Given the description of an element on the screen output the (x, y) to click on. 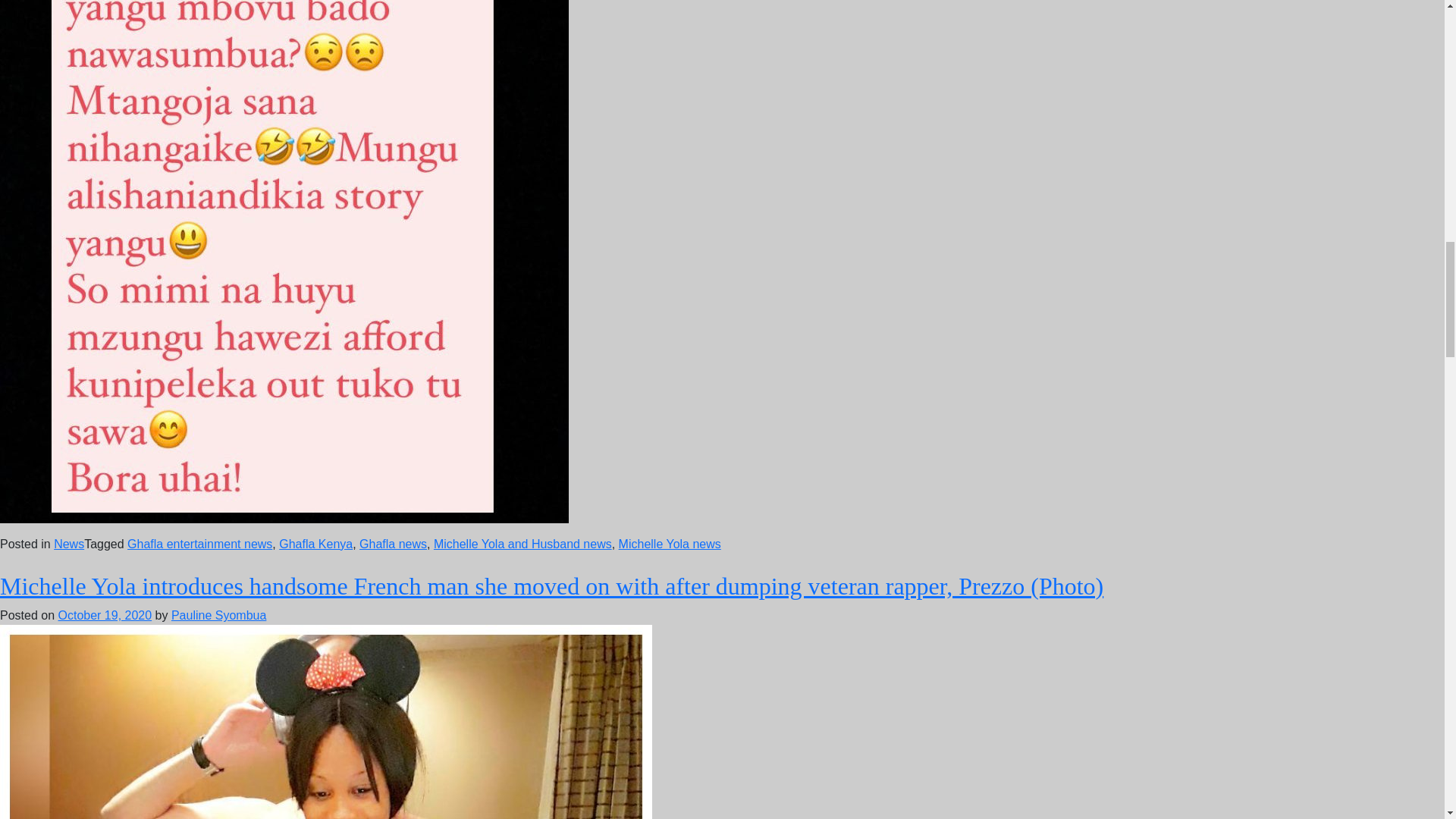
Ghafla Kenya (315, 543)
October 19, 2020 (104, 615)
Michelle Yola and Husband news (522, 543)
Pauline Syombua (218, 615)
Michelle Yola news (669, 543)
Ghafla news (392, 543)
Ghafla entertainment news (200, 543)
News (68, 543)
